Given the description of an element on the screen output the (x, y) to click on. 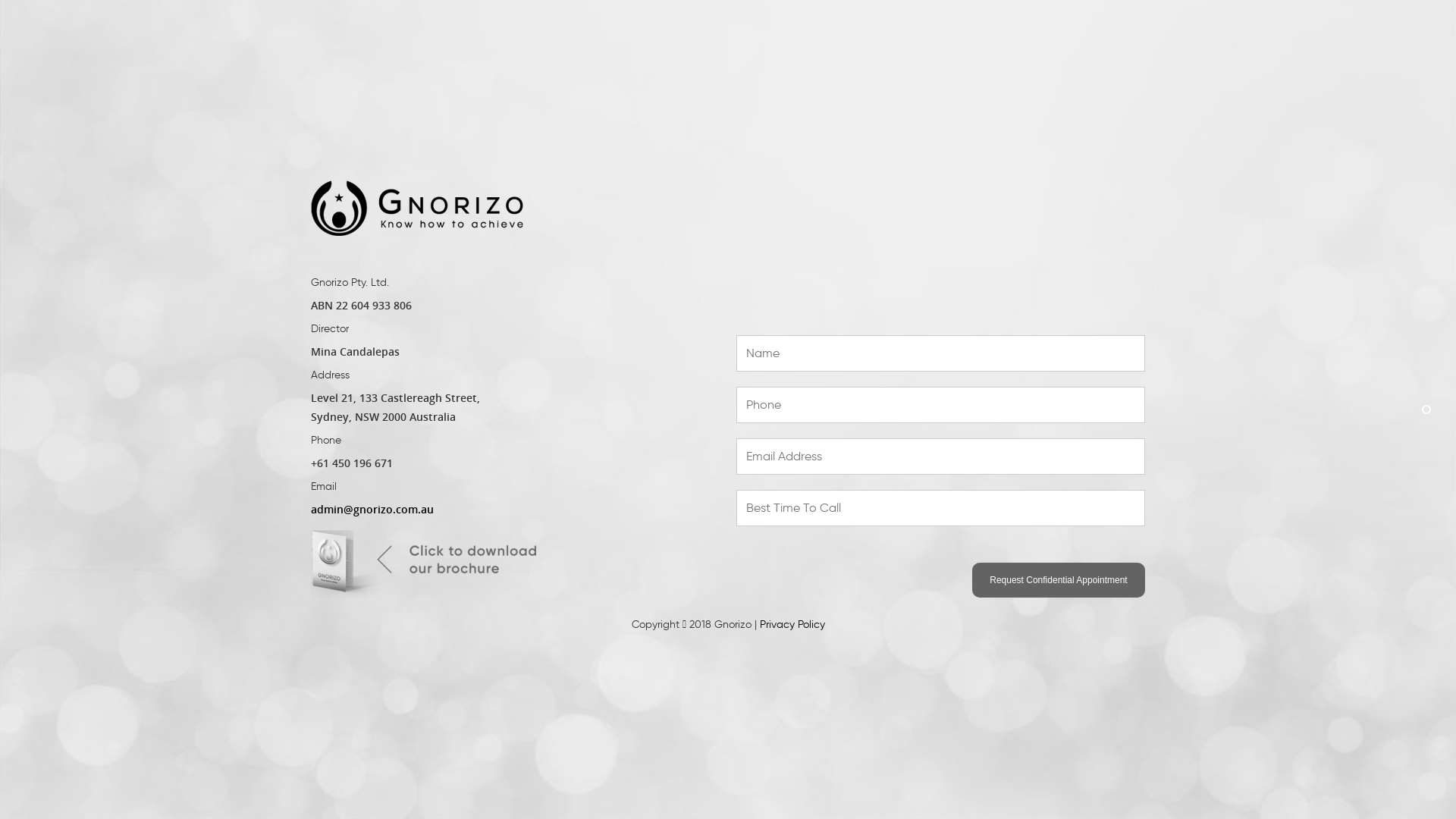
Privacy Policy Element type: text (792, 624)
admin@gnorizo.com.au Element type: text (371, 509)
Request Confidential Appointment Element type: text (1058, 579)
